Given the description of an element on the screen output the (x, y) to click on. 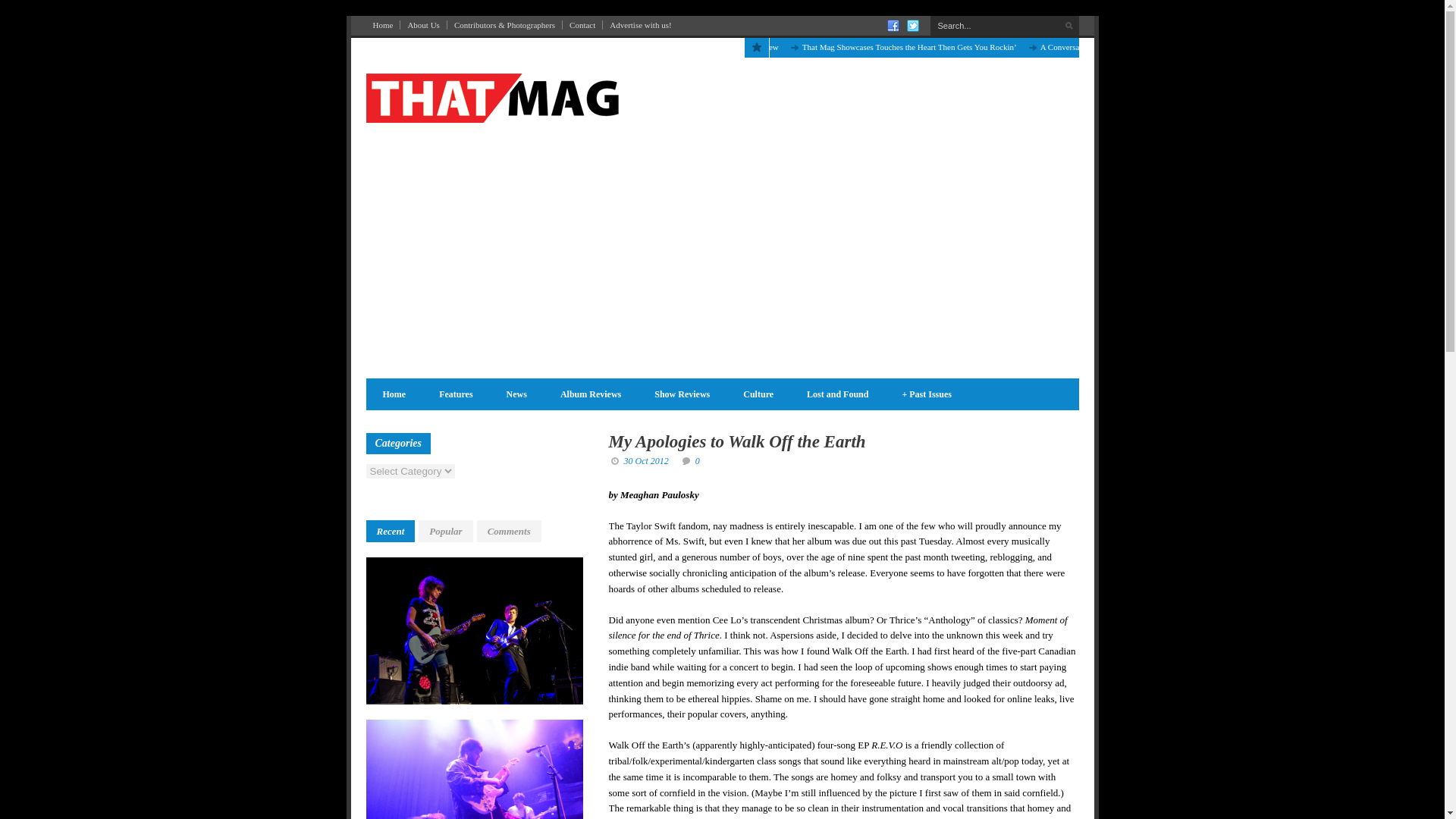
About Us (423, 24)
30 Oct 2012 (645, 460)
Popular (445, 531)
News (516, 393)
Lost and Found (837, 393)
Home (382, 24)
Contact (582, 24)
Culture (758, 393)
Rebel Girl Review (746, 46)
Search... (1004, 25)
Features (455, 393)
Advertise with us! (640, 24)
Recent (389, 531)
Comments (509, 531)
